Given the description of an element on the screen output the (x, y) to click on. 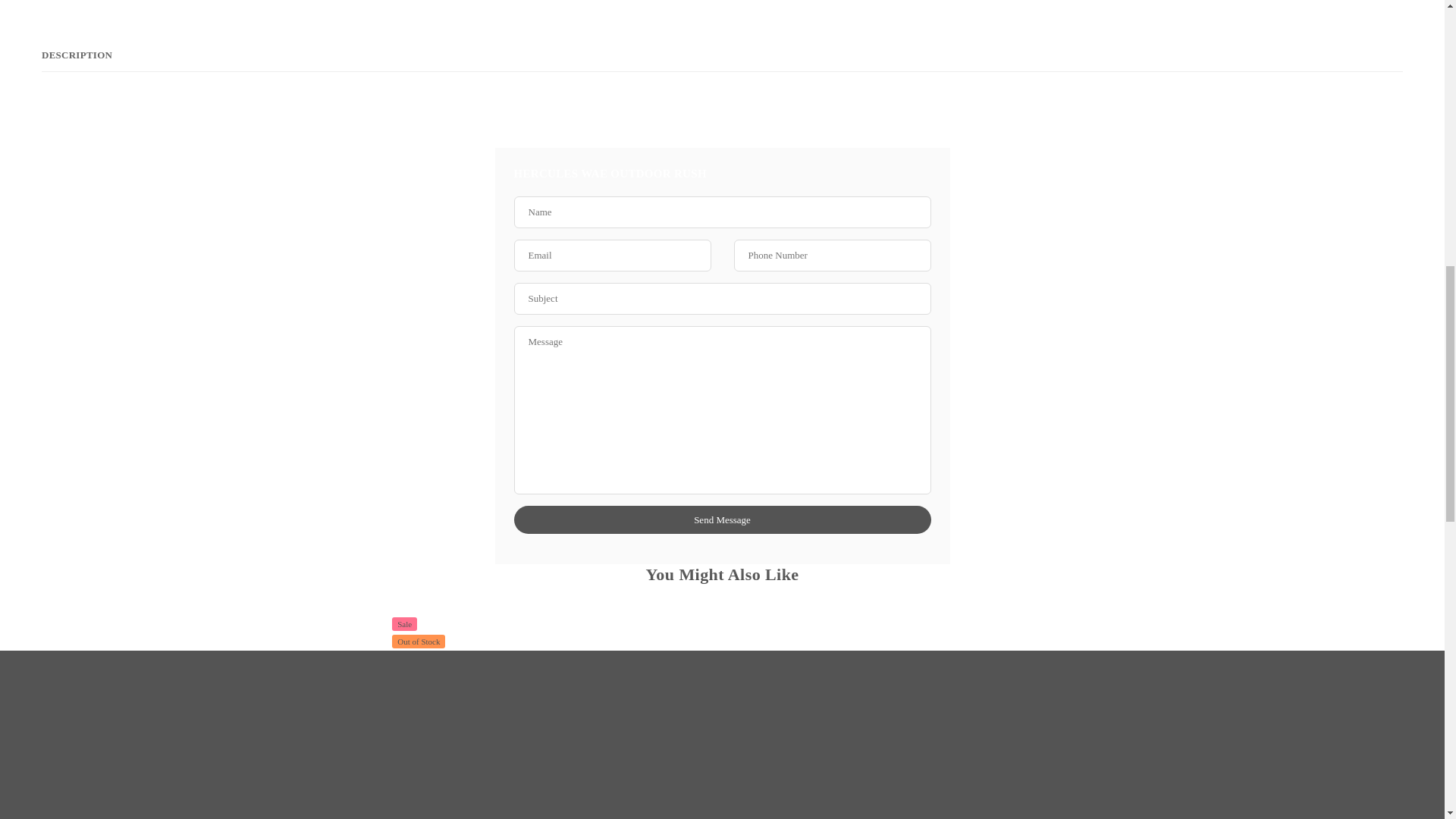
Send Message (722, 519)
